Given the description of an element on the screen output the (x, y) to click on. 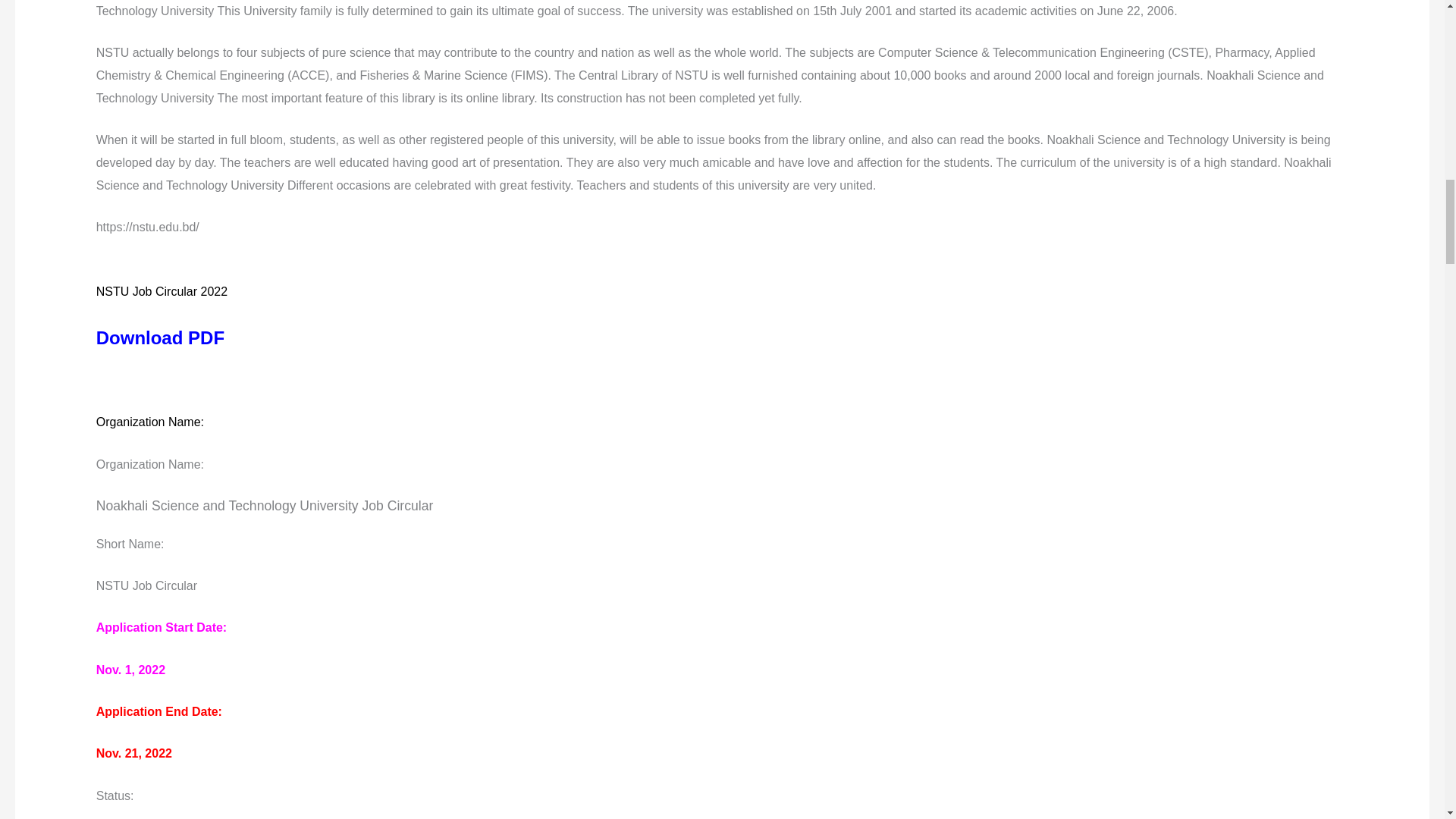
Download PDF (160, 337)
